Given the description of an element on the screen output the (x, y) to click on. 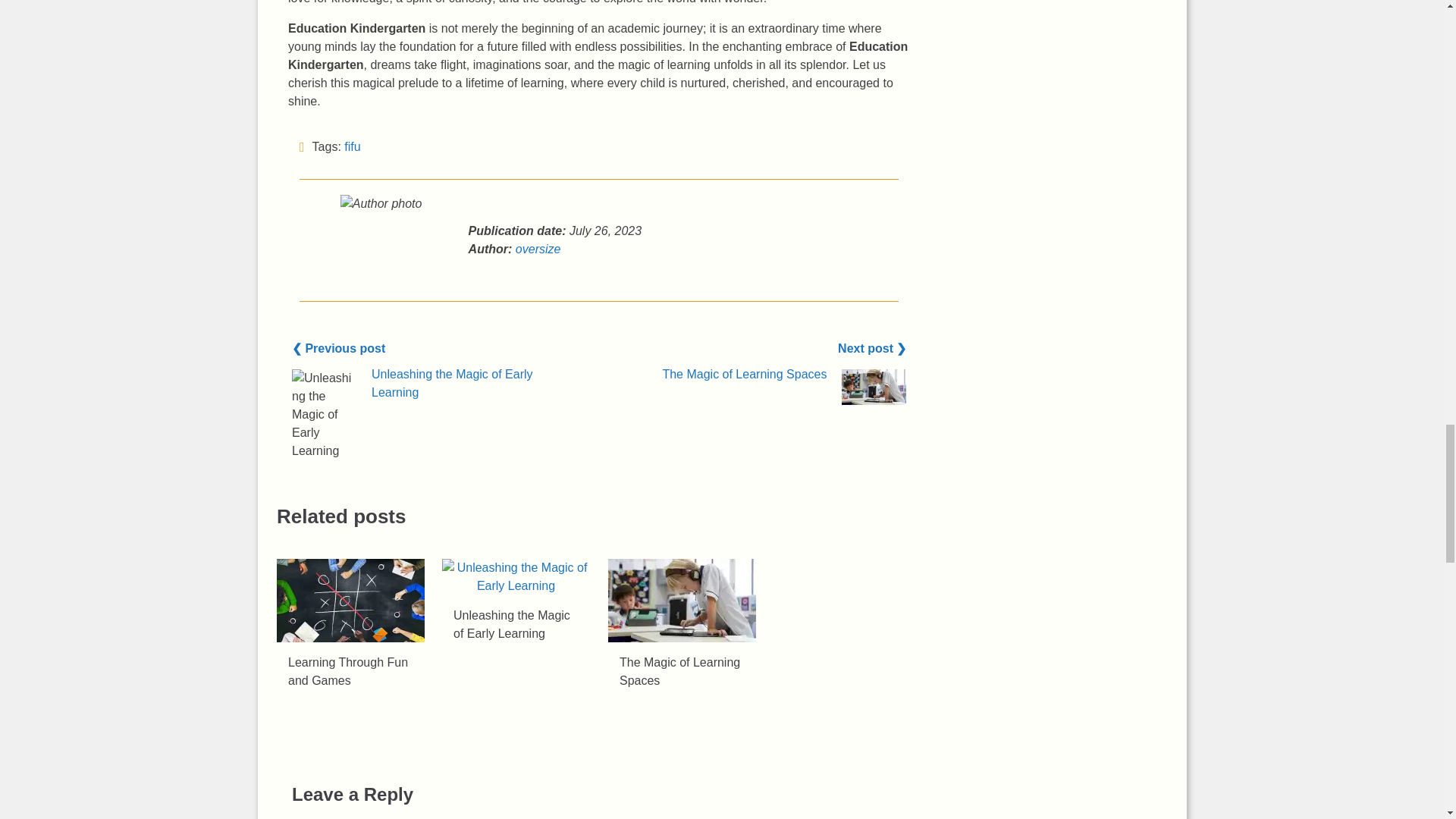
oversize (537, 248)
fifu (351, 145)
Unleashing the Magic of Early Learning (451, 382)
The Magic of Learning Spaces (681, 600)
Learning Through Fun and Games (350, 600)
The Magic of Learning Spaces (873, 386)
The Magic of Learning Spaces (744, 373)
Learning Through Fun and Games (347, 671)
Unleashing the Magic of Early Learning (515, 576)
